Given the description of an element on the screen output the (x, y) to click on. 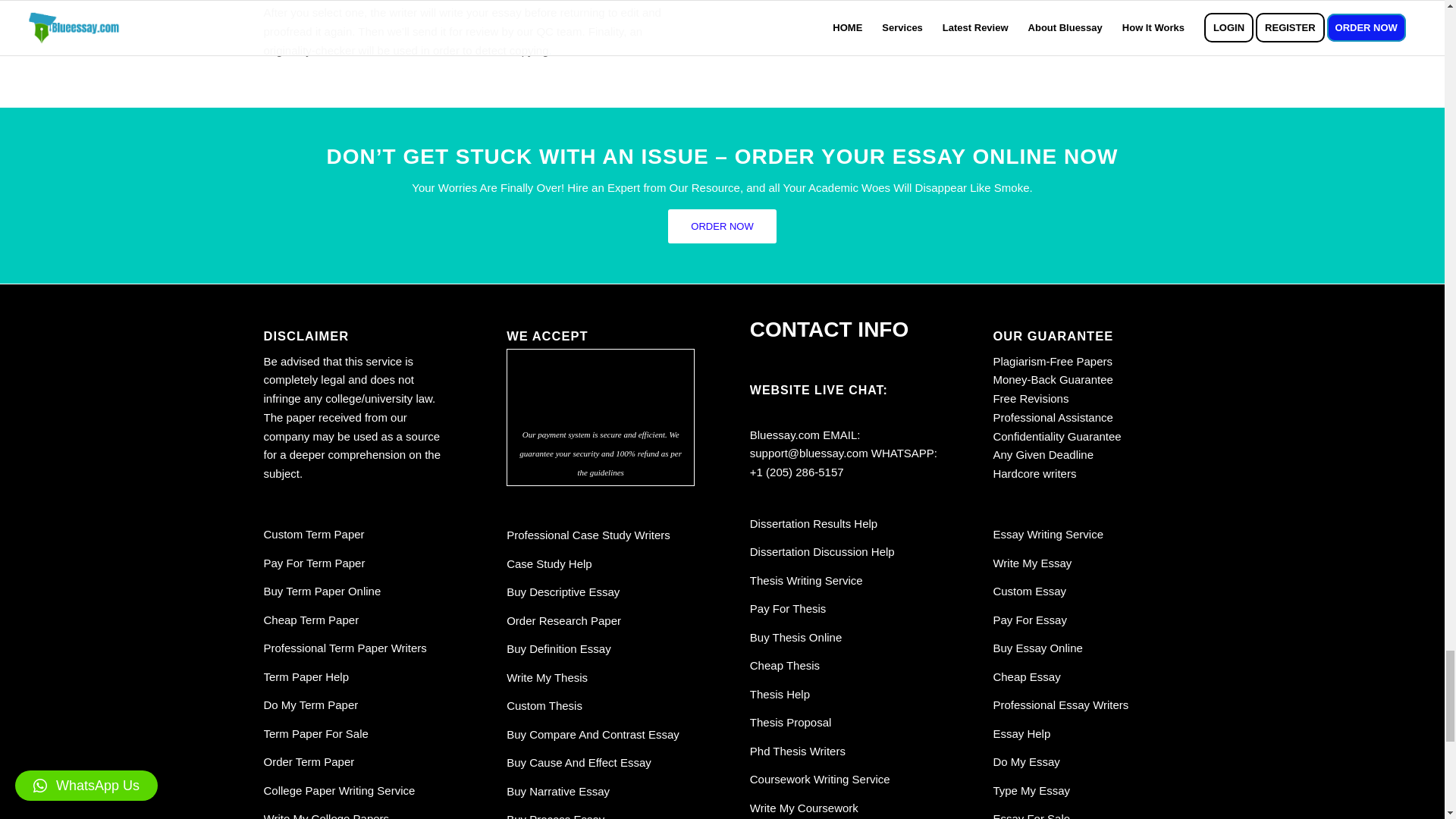
ORDER NOW (722, 226)
Buy Term Paper Online (322, 590)
Professional Term Paper Writers (344, 647)
Term Paper Help (306, 676)
Custom Term Paper (314, 533)
Do My Term Paper (310, 704)
WE ACCEPT (600, 386)
Pay For Term Paper (314, 562)
Cheap Term Paper (311, 619)
Term Paper For Sale (315, 733)
